Given the description of an element on the screen output the (x, y) to click on. 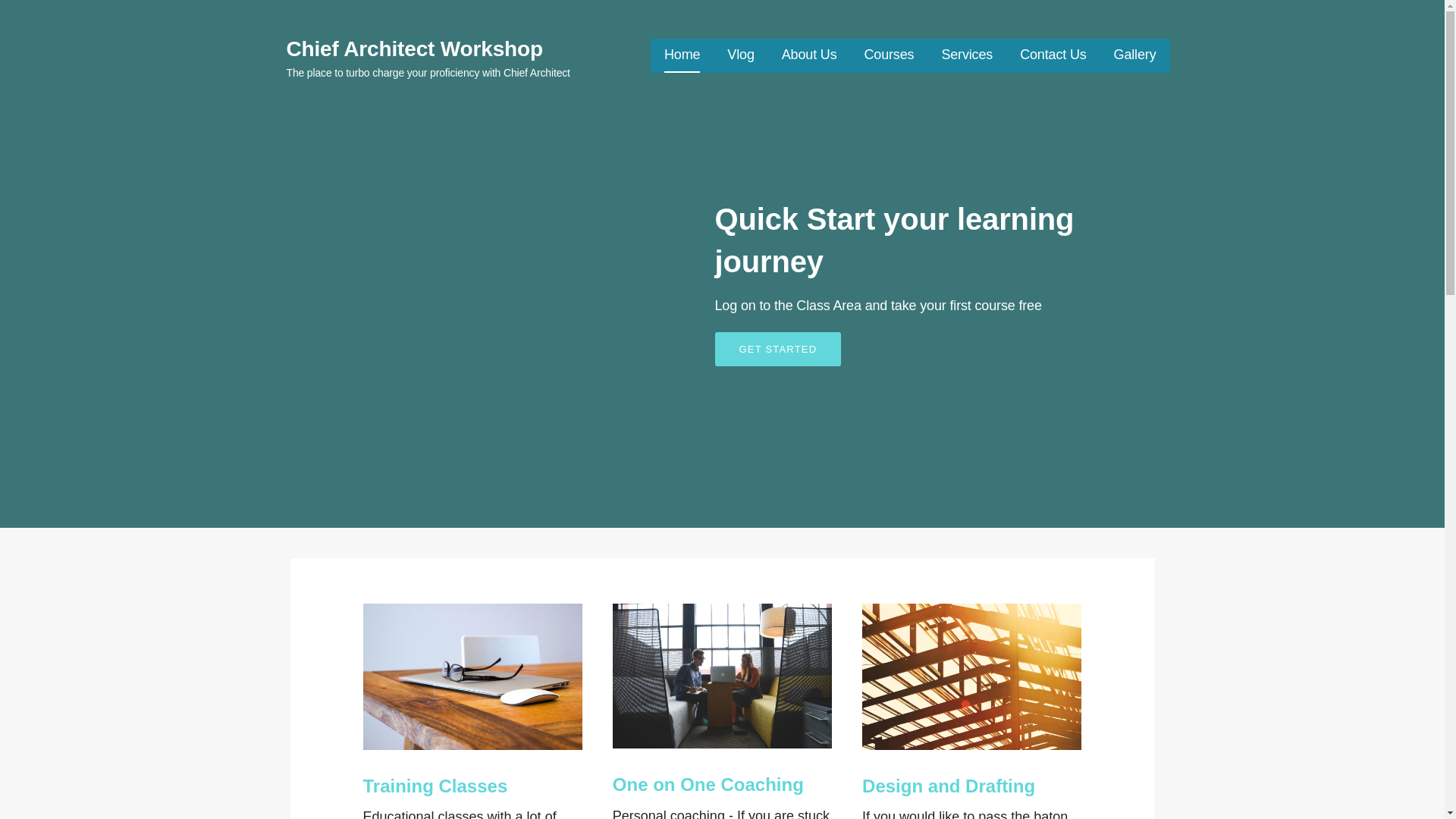
Design and Drafting (948, 785)
GET STARTED (777, 349)
Chief Architect Workshop (414, 48)
Services (966, 55)
About Us (809, 55)
Courses (889, 55)
Training Classes (434, 785)
Contact Us (1053, 55)
Gallery (1134, 55)
One on One Coaching (707, 783)
